Given the description of an element on the screen output the (x, y) to click on. 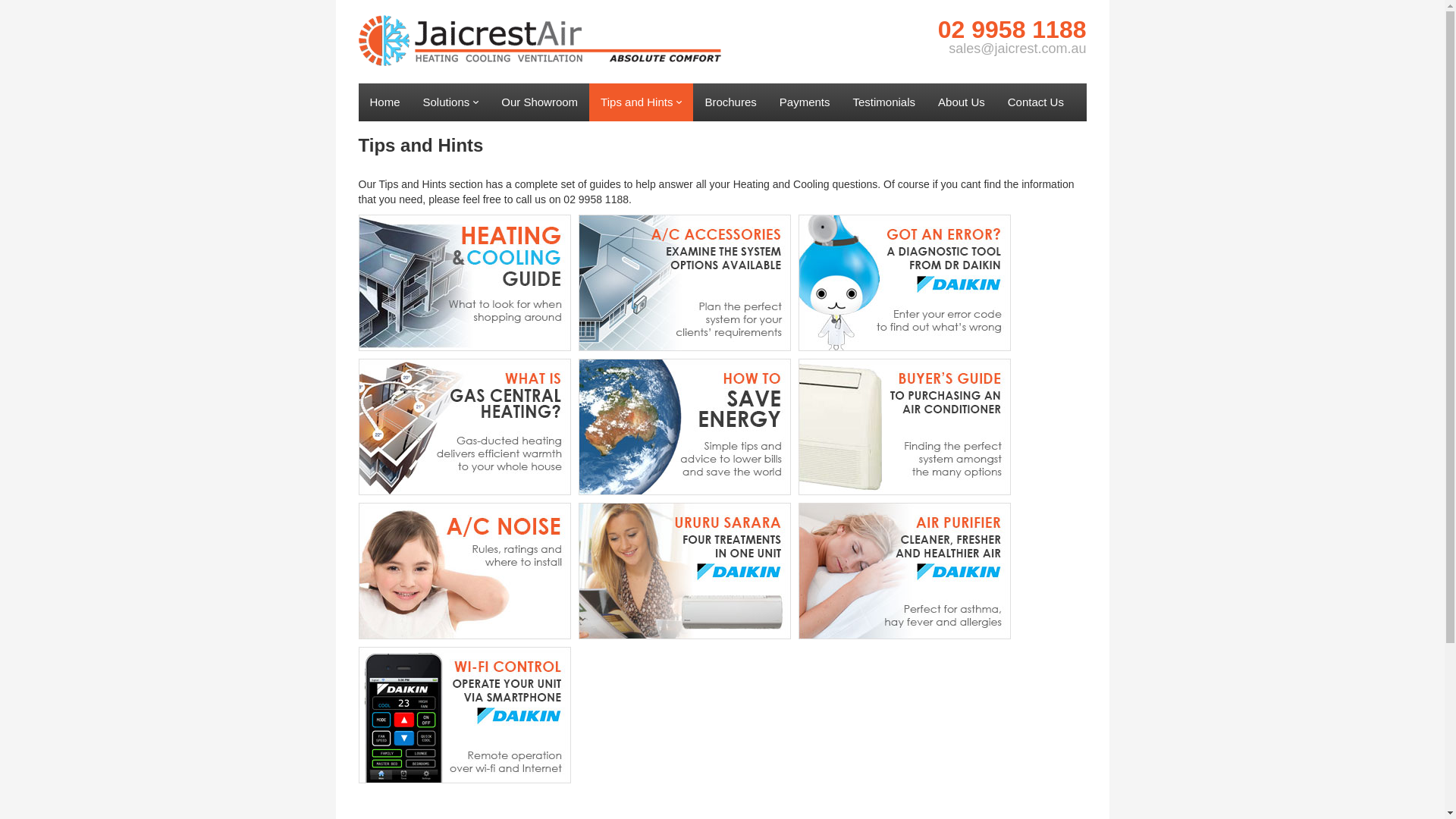
Payments Element type: text (804, 102)
sales@jaicrest.com.au Element type: text (1016, 48)
Our Showroom Element type: text (539, 102)
Brochures Element type: text (730, 102)
Solutions Element type: text (450, 102)
Testimonials Element type: text (884, 102)
02 9958 1188 Element type: text (1012, 29)
About Us Element type: text (961, 102)
Tips and Hints Element type: text (641, 102)
Home Element type: text (384, 102)
Contact Us Element type: text (1035, 102)
